Given the description of an element on the screen output the (x, y) to click on. 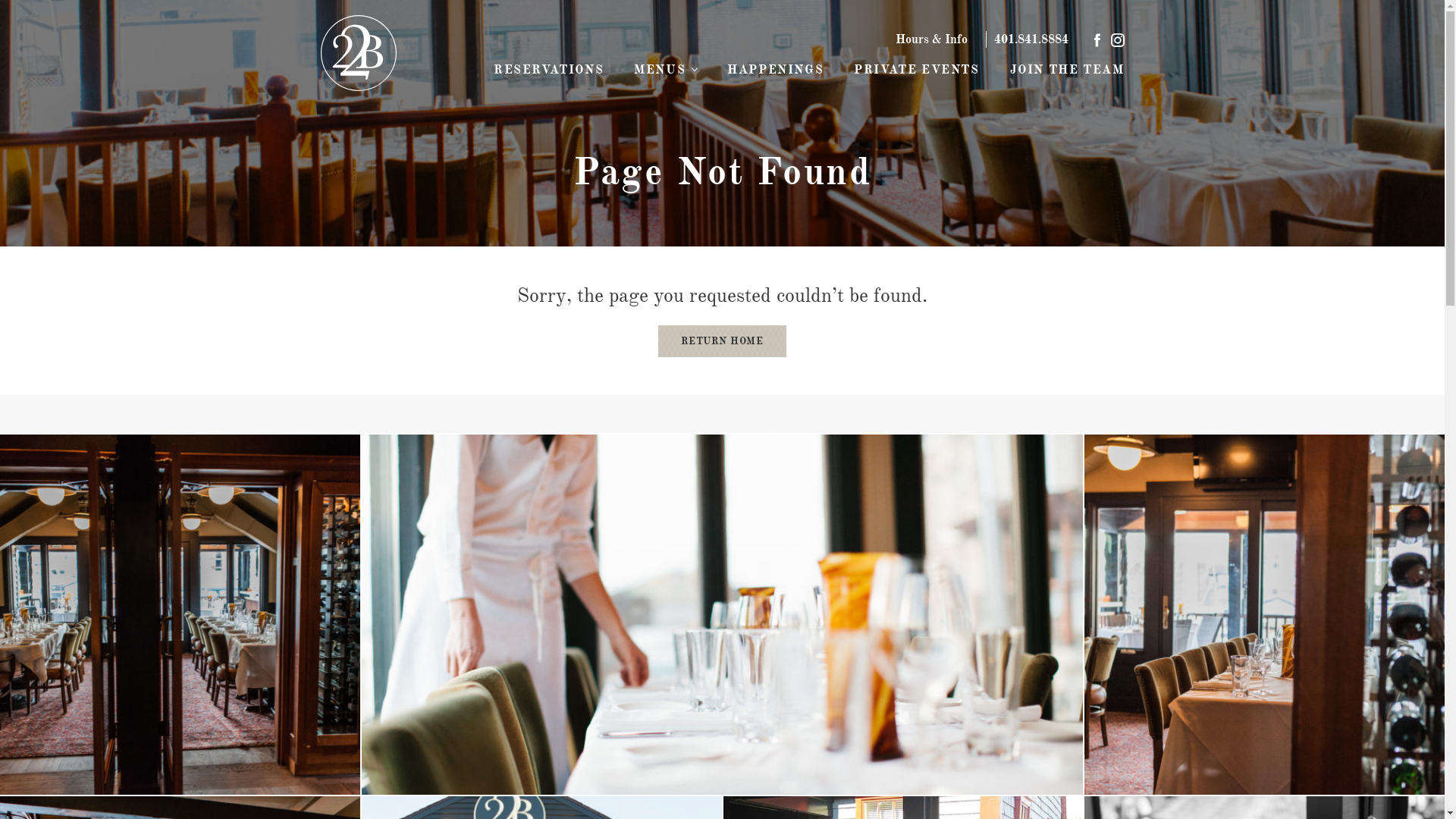
MENUS Element type: text (664, 70)
22 Bowen's Wine Bar & Grille Element type: text (357, 53)
PRIVATE EVENTS Element type: text (916, 70)
HAPPENINGS Element type: text (775, 70)
RETURN HOME Element type: text (721, 341)
JOIN THE TEAM Element type: text (1067, 70)
401.841.8884 Element type: text (1030, 39)
RESERVATIONS Element type: text (548, 70)
Hours & Info Element type: text (930, 39)
